Given the description of an element on the screen output the (x, y) to click on. 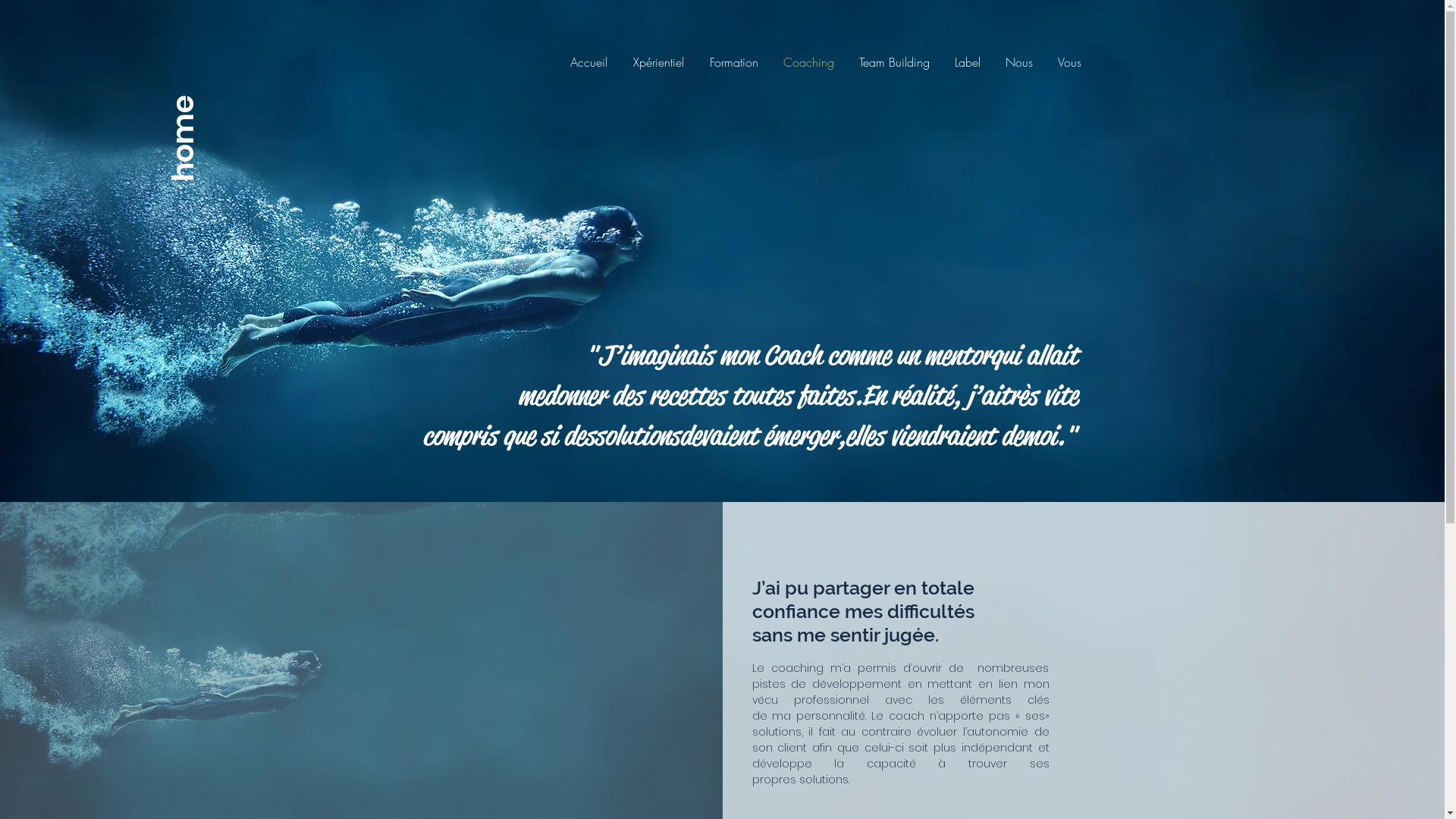
Coaching Element type: text (808, 62)
Nous Element type: text (1019, 62)
home Element type: text (212, 107)
Vous Element type: text (1068, 62)
Accueil Element type: text (587, 62)
Team Building Element type: text (893, 62)
Formation Element type: text (733, 62)
Label Element type: text (966, 62)
